Given the description of an element on the screen output the (x, y) to click on. 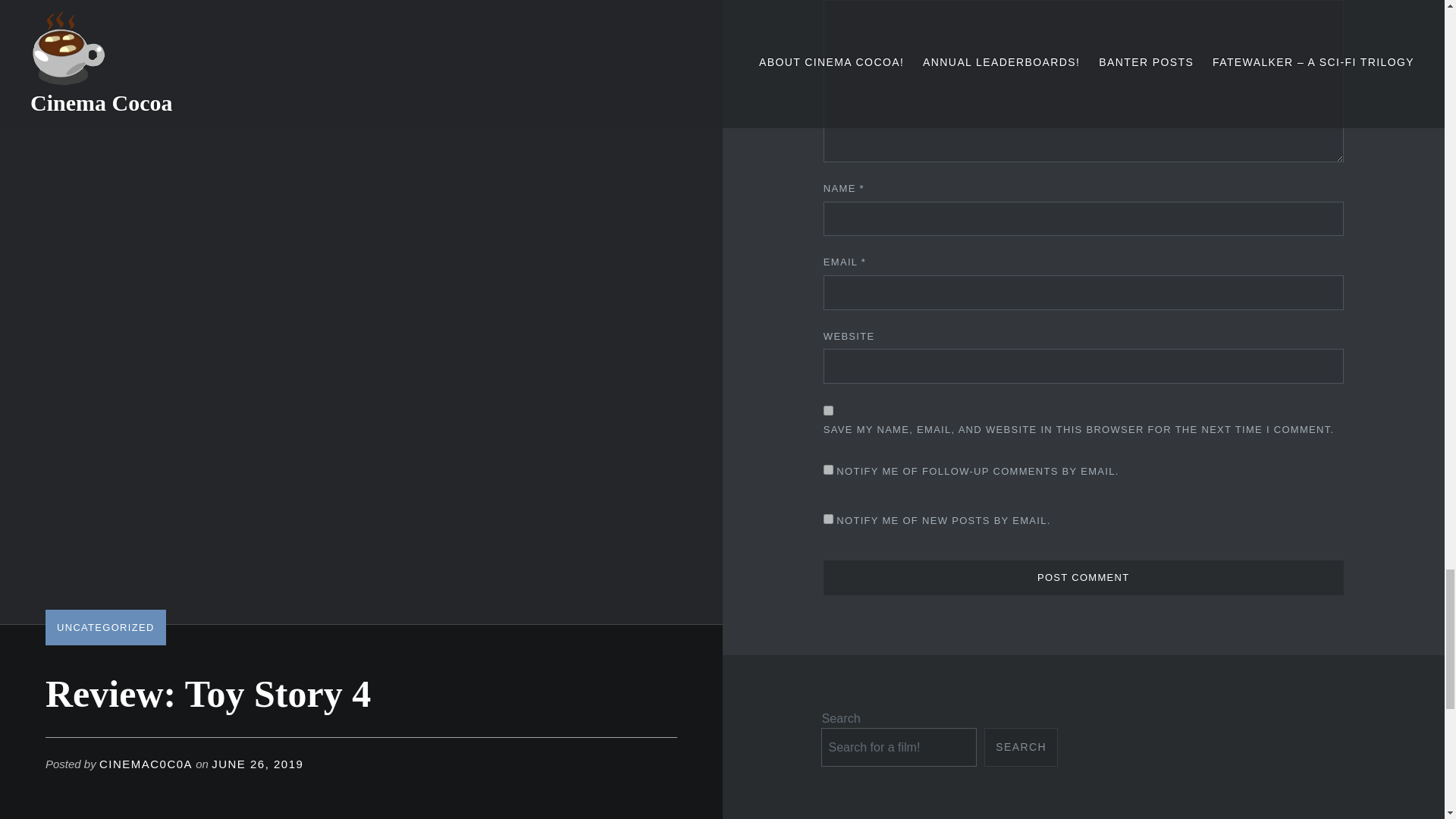
Fatewalker - A Sci-Fi Action Adventure Trilogy (1221, 763)
yes (828, 410)
SEARCH (1021, 747)
Post Comment (1083, 577)
subscribe (828, 470)
Post Comment (1083, 577)
subscribe (828, 519)
